Given the description of an element on the screen output the (x, y) to click on. 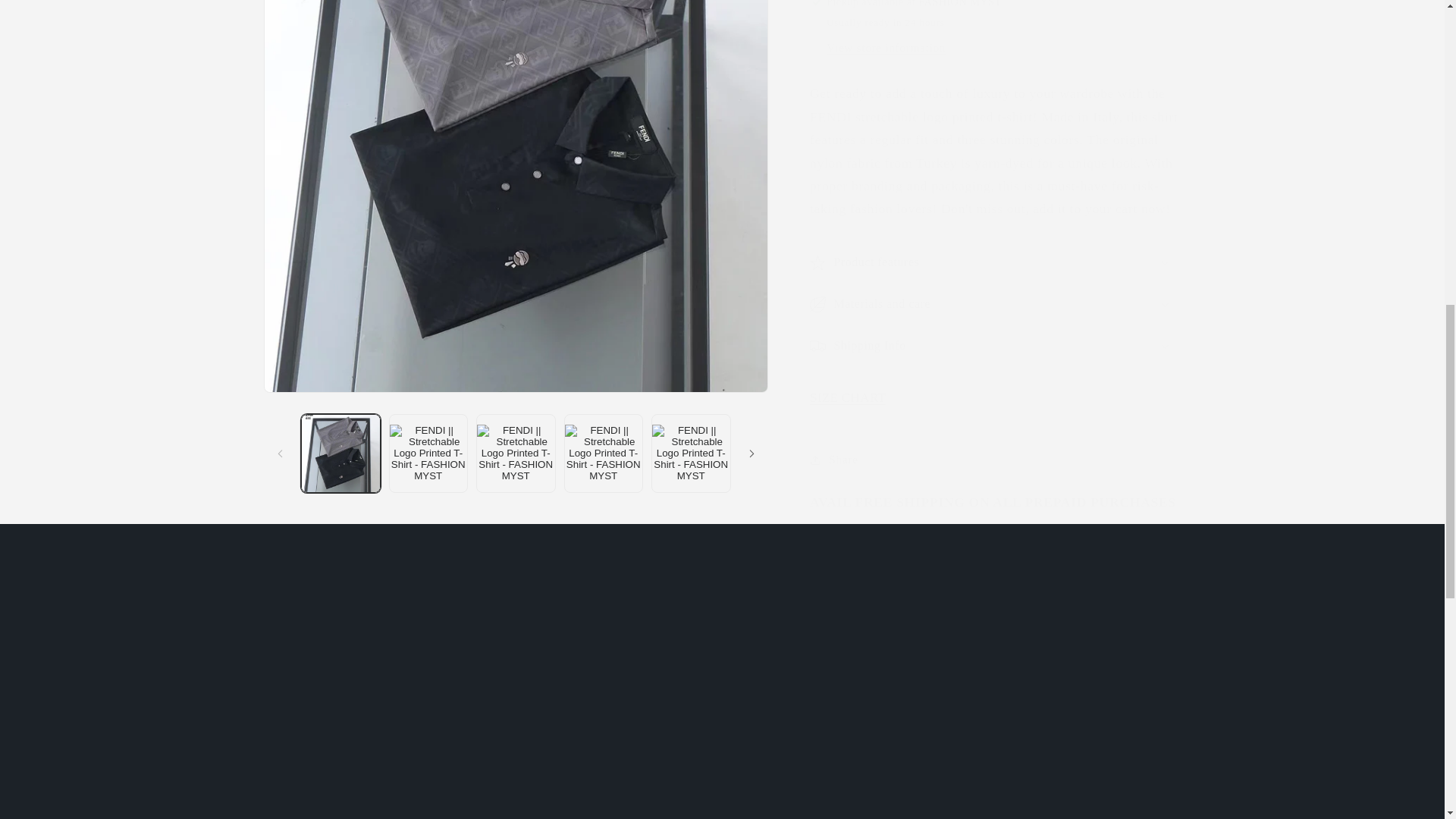
Open media 1 in modal (722, 700)
